Given the description of an element on the screen output the (x, y) to click on. 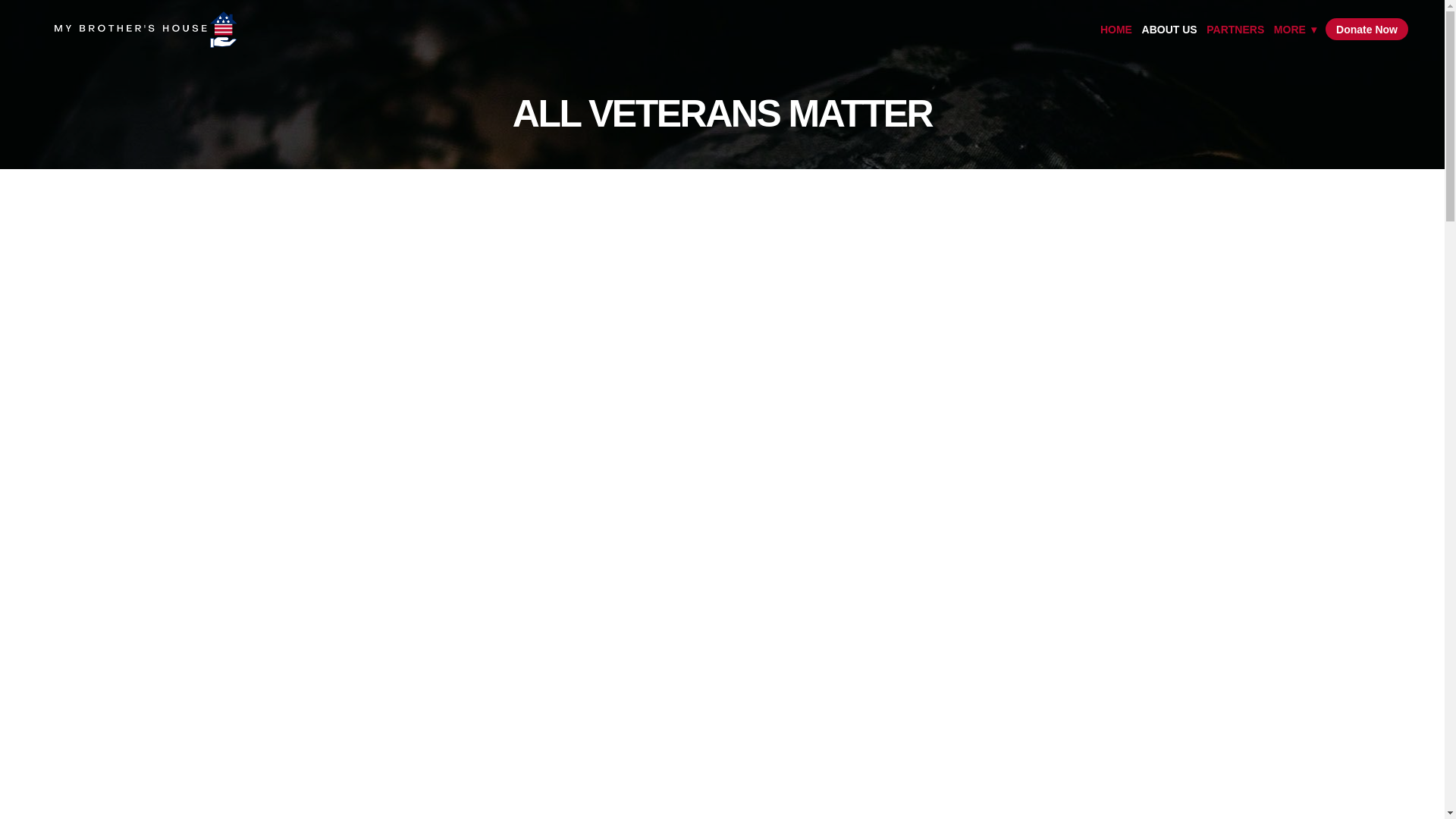
PARTNERS (1235, 28)
HOME (1116, 28)
Donate Now (1365, 29)
ABOUT US (1168, 28)
My Brother's House (145, 29)
